Given the description of an element on the screen output the (x, y) to click on. 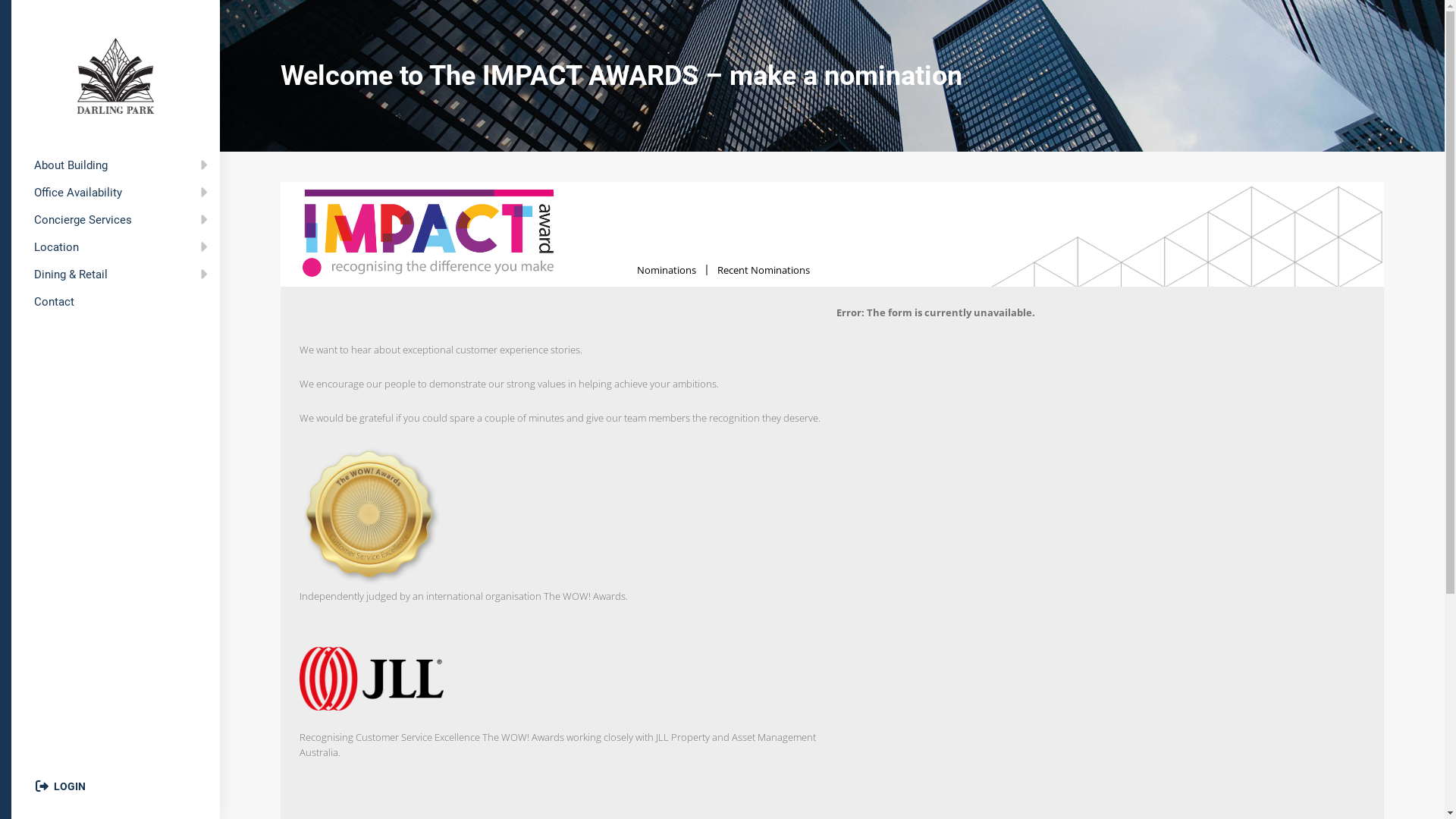
LOGIN Element type: text (60, 785)
Recent Nominations Element type: text (763, 269)
About Building Element type: text (115, 164)
Dining & Retail Element type: text (115, 274)
Nominations Element type: text (666, 269)
Contact Element type: text (115, 301)
Office Availability Element type: text (115, 192)
Location Element type: text (115, 246)
Concierge Services Element type: text (115, 219)
